Given the description of an element on the screen output the (x, y) to click on. 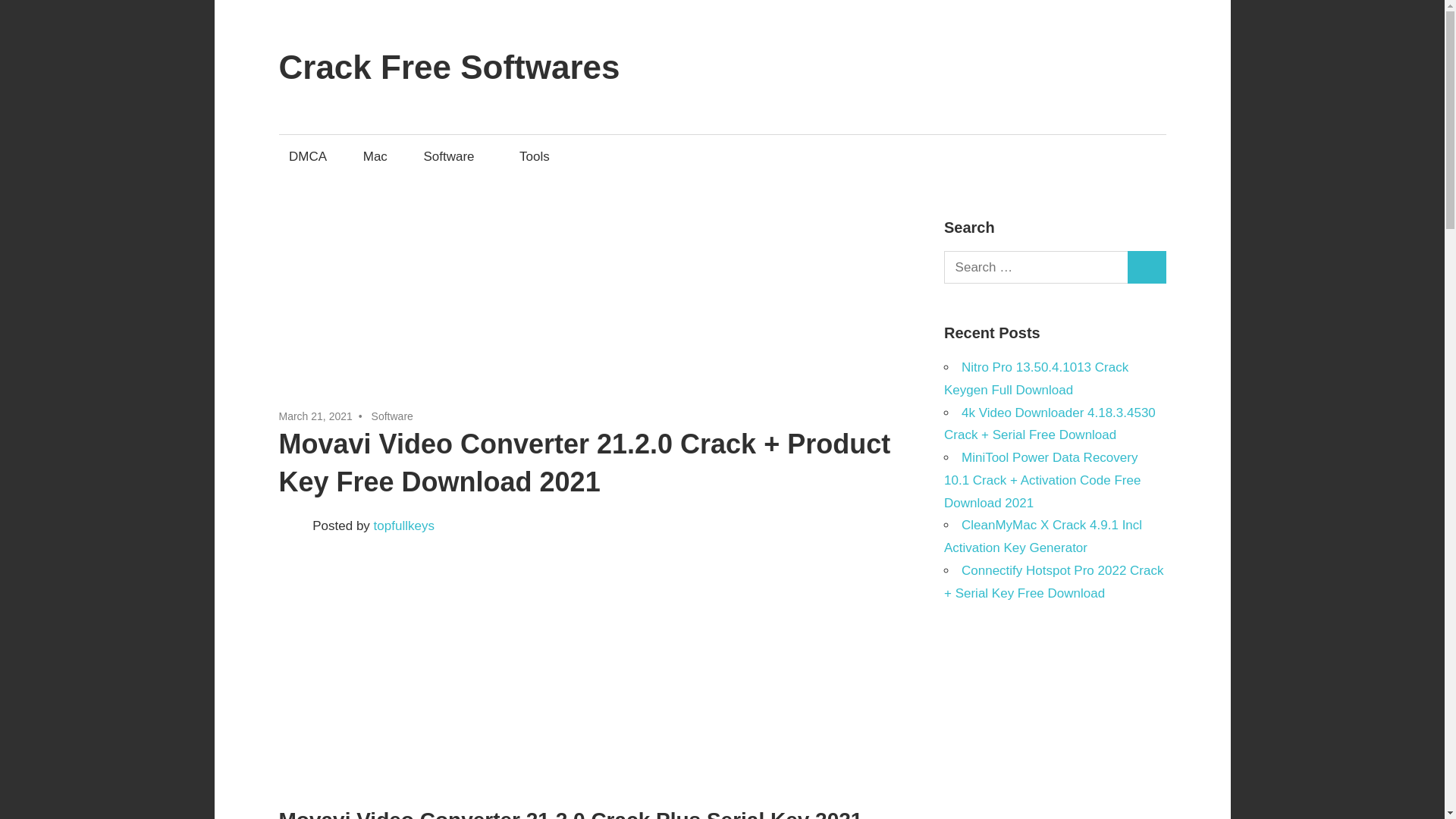
DMCA (308, 156)
topfullkeys (403, 525)
Software (392, 416)
View all posts by topfullkeys (403, 525)
Nitro Pro 13.50.4.1013 Crack Keygen Full Download (1035, 378)
CleanMyMac X Crack 4.9.1 Incl Activation Key Generator (1042, 536)
March 21, 2021 (315, 416)
Software (453, 156)
Search for: (1035, 266)
2:00 AM (315, 416)
